Given the description of an element on the screen output the (x, y) to click on. 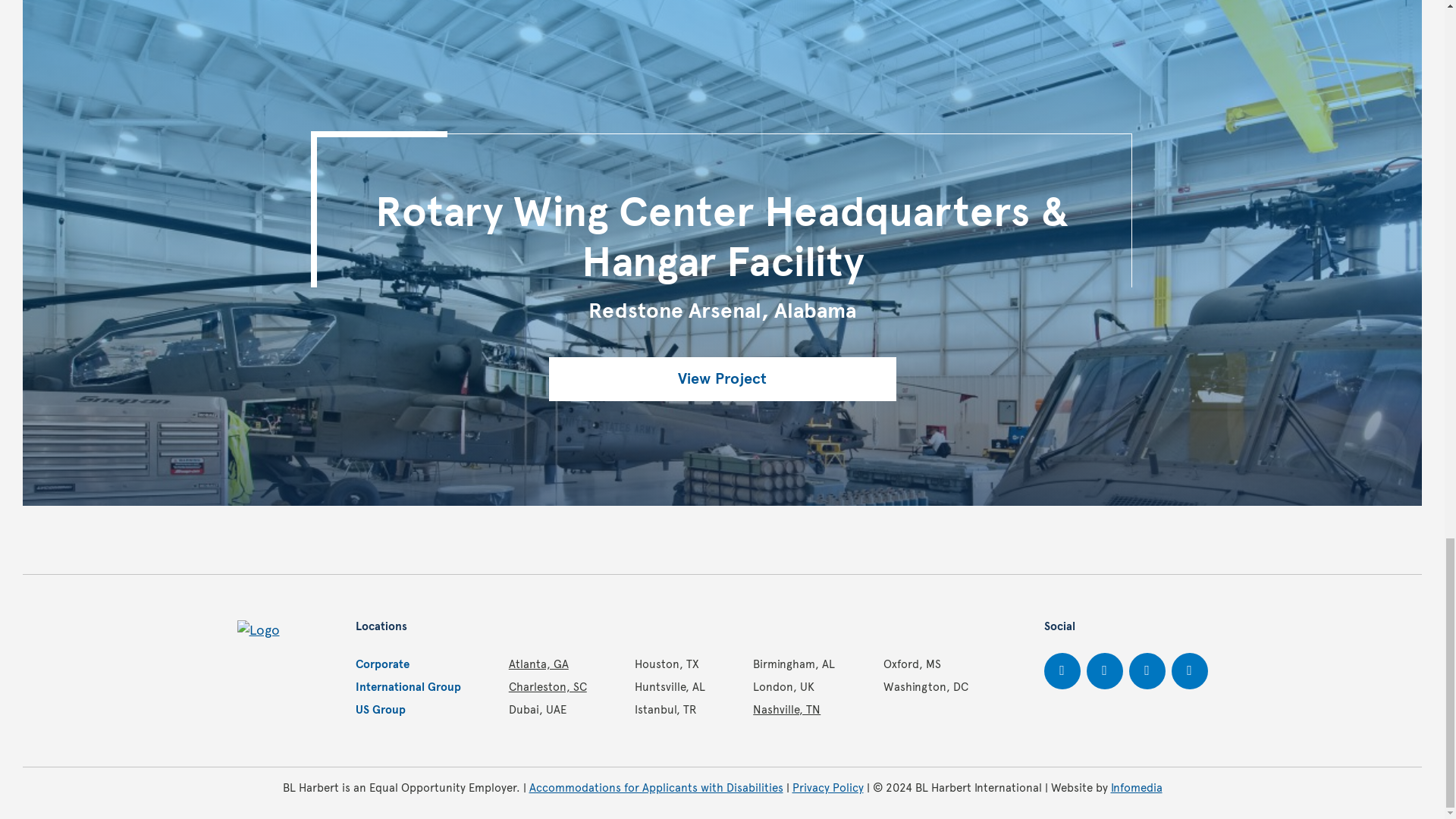
US Group (379, 709)
Charleston, SC (547, 686)
Atlanta, GA (538, 663)
International Group (407, 686)
View Project (722, 379)
Corporate (382, 663)
Nashville, TN (786, 709)
